Given the description of an element on the screen output the (x, y) to click on. 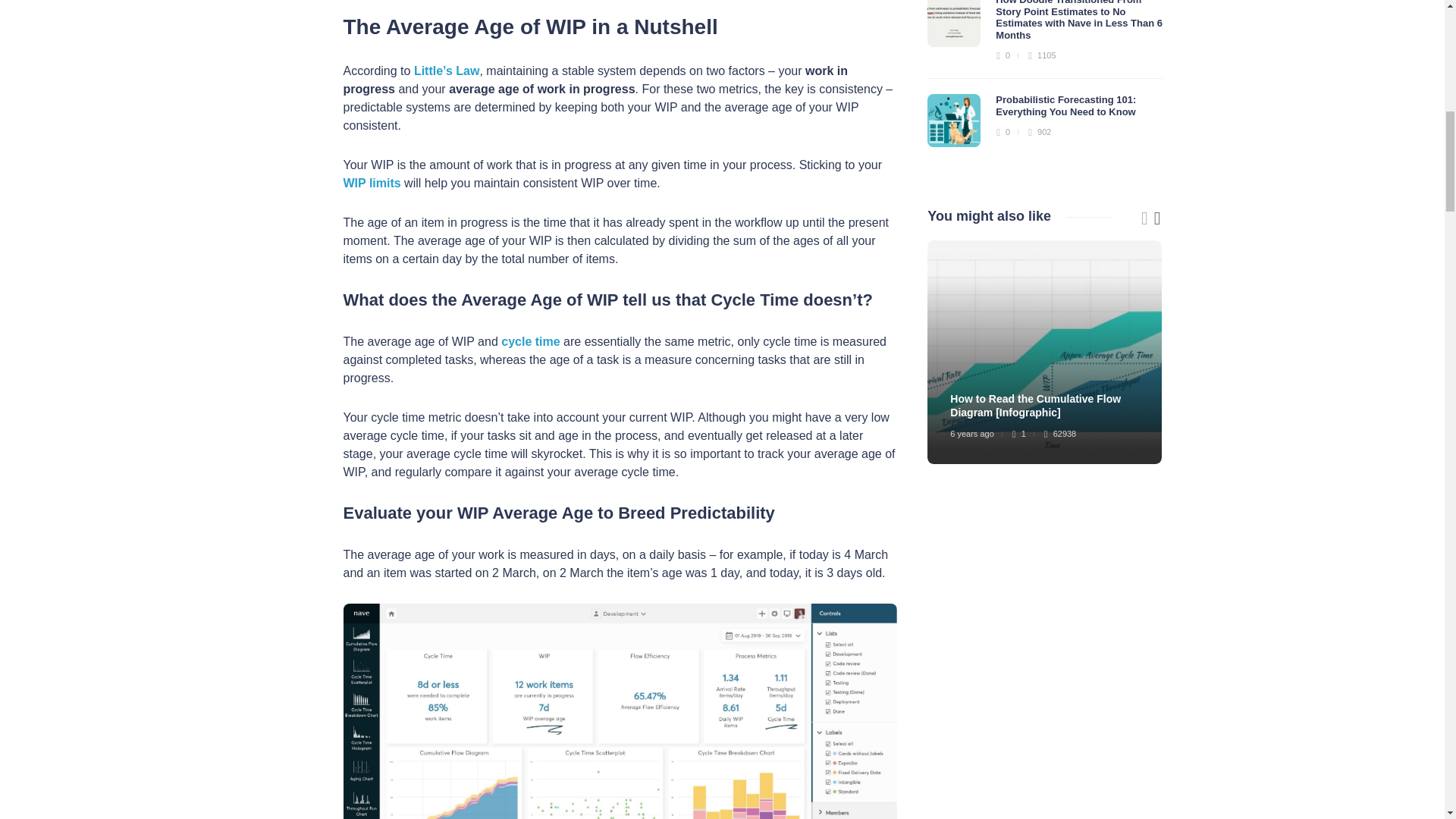
WIP limits (371, 182)
cycle time (529, 341)
